Given the description of an element on the screen output the (x, y) to click on. 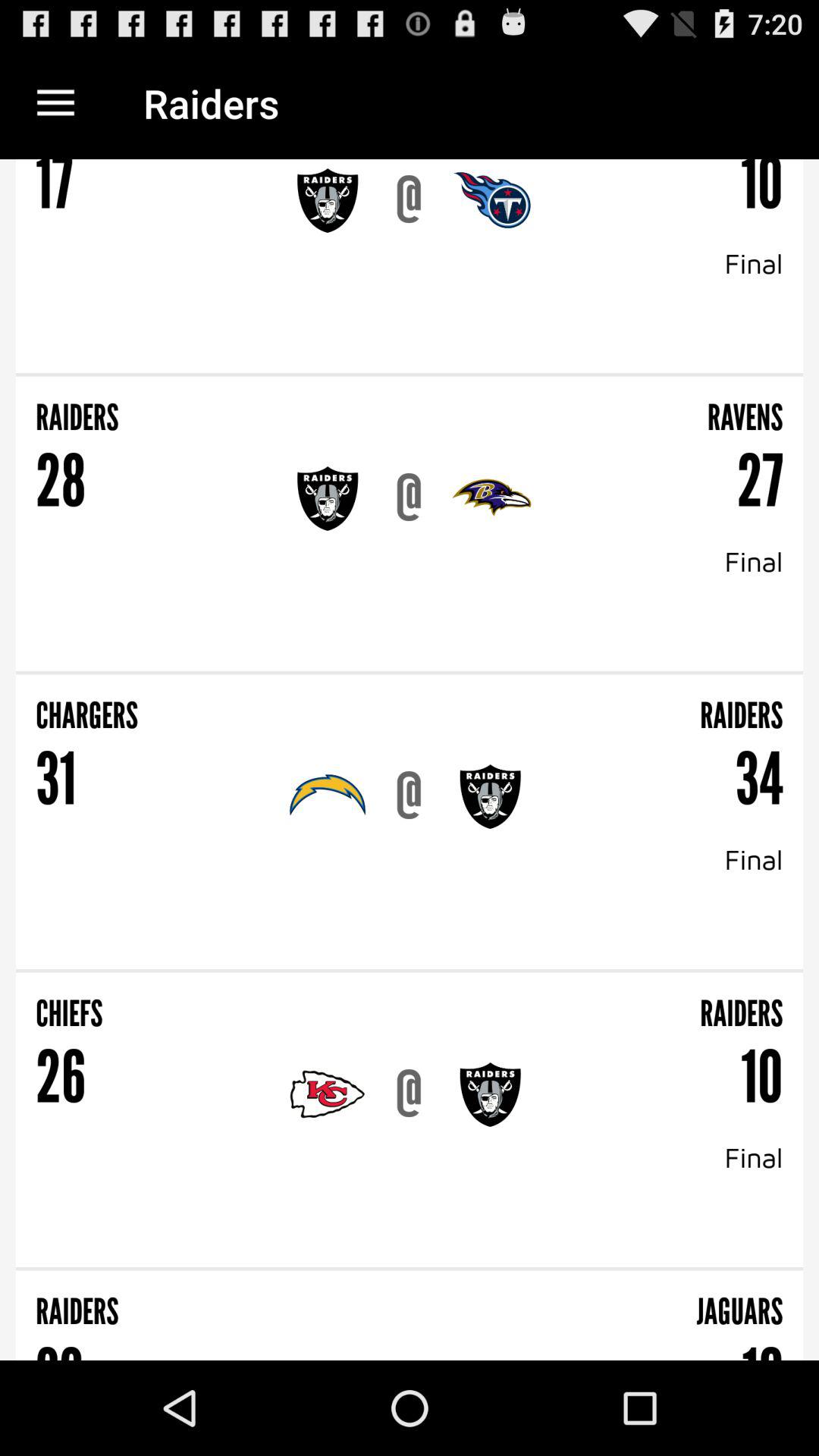
click the icon below the jaguars (762, 1346)
